Given the description of an element on the screen output the (x, y) to click on. 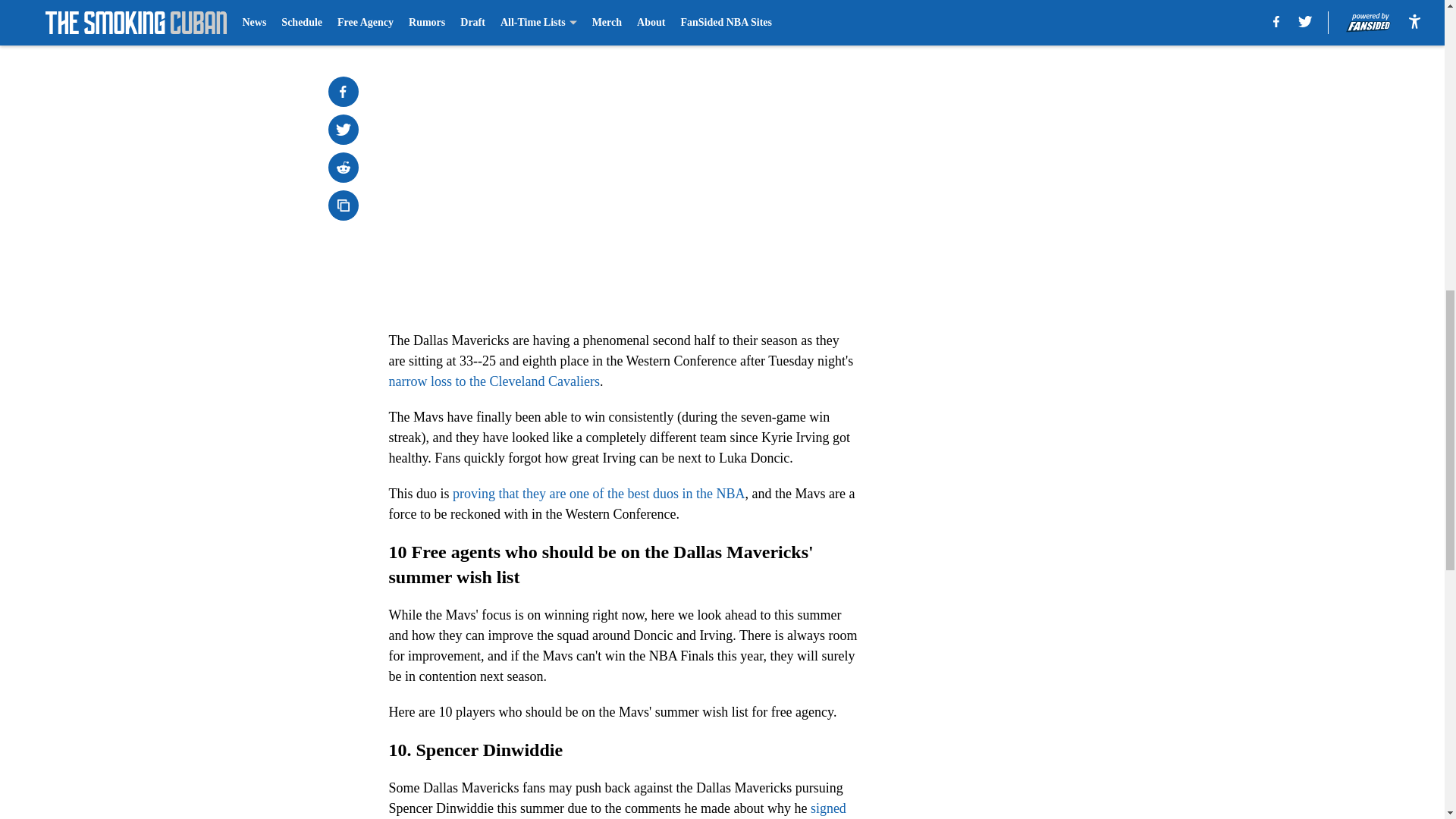
proving that they are one of the best duos in the NBA (598, 493)
signed with the Los Angeles Lakers (616, 809)
Prev (433, 20)
Next (813, 20)
narrow loss to the Cleveland Cavaliers (493, 381)
